Given the description of an element on the screen output the (x, y) to click on. 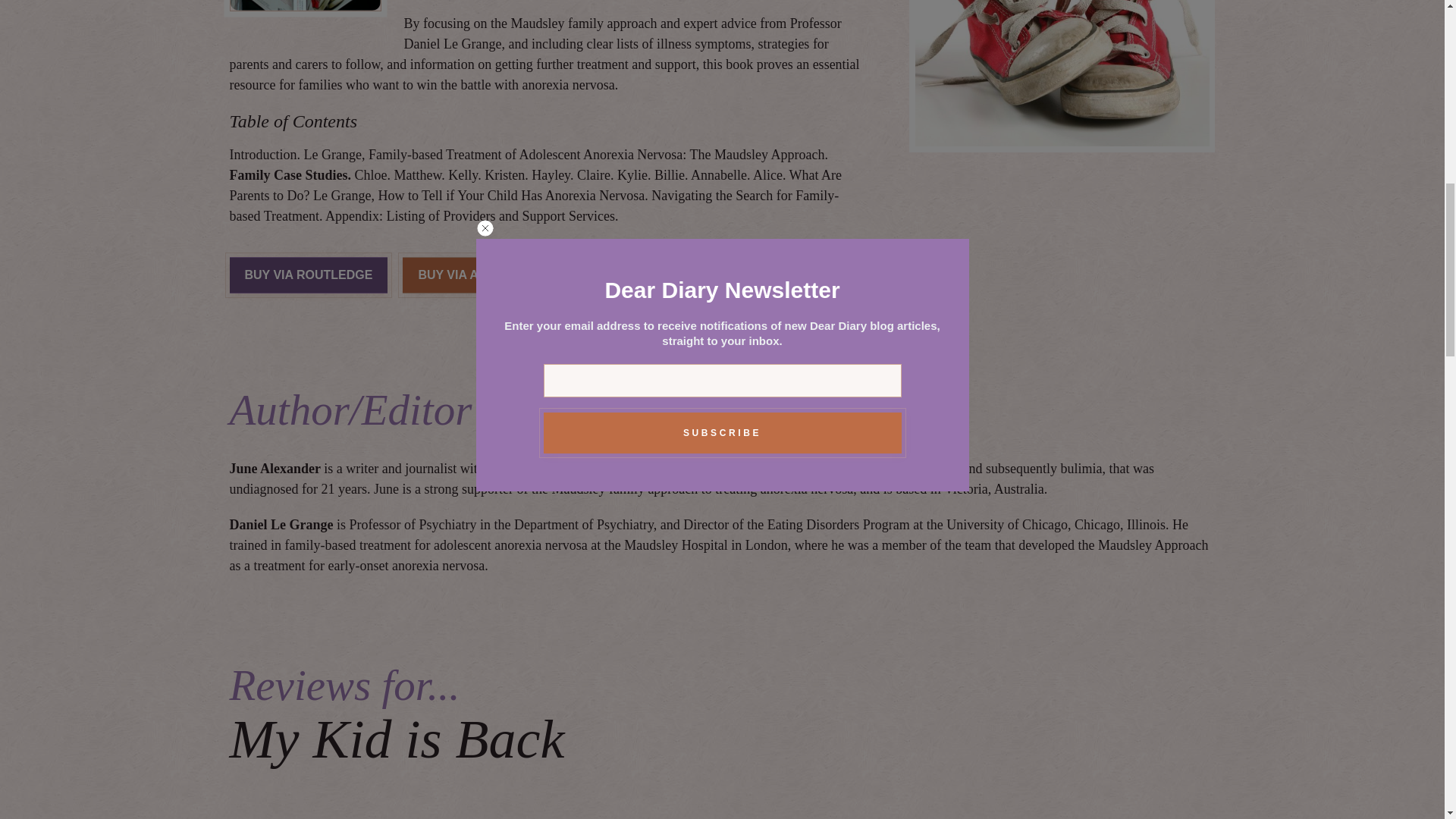
BUY VIA ROUTLEDGE (307, 275)
Buy via Routledge (307, 275)
BUY VIA AMAZON.CO.UK (673, 275)
Buy via Amazon.com (486, 275)
Buy via Amazon.co.uk (673, 275)
BUY VIA AMAZON.COM (486, 275)
